Given the description of an element on the screen output the (x, y) to click on. 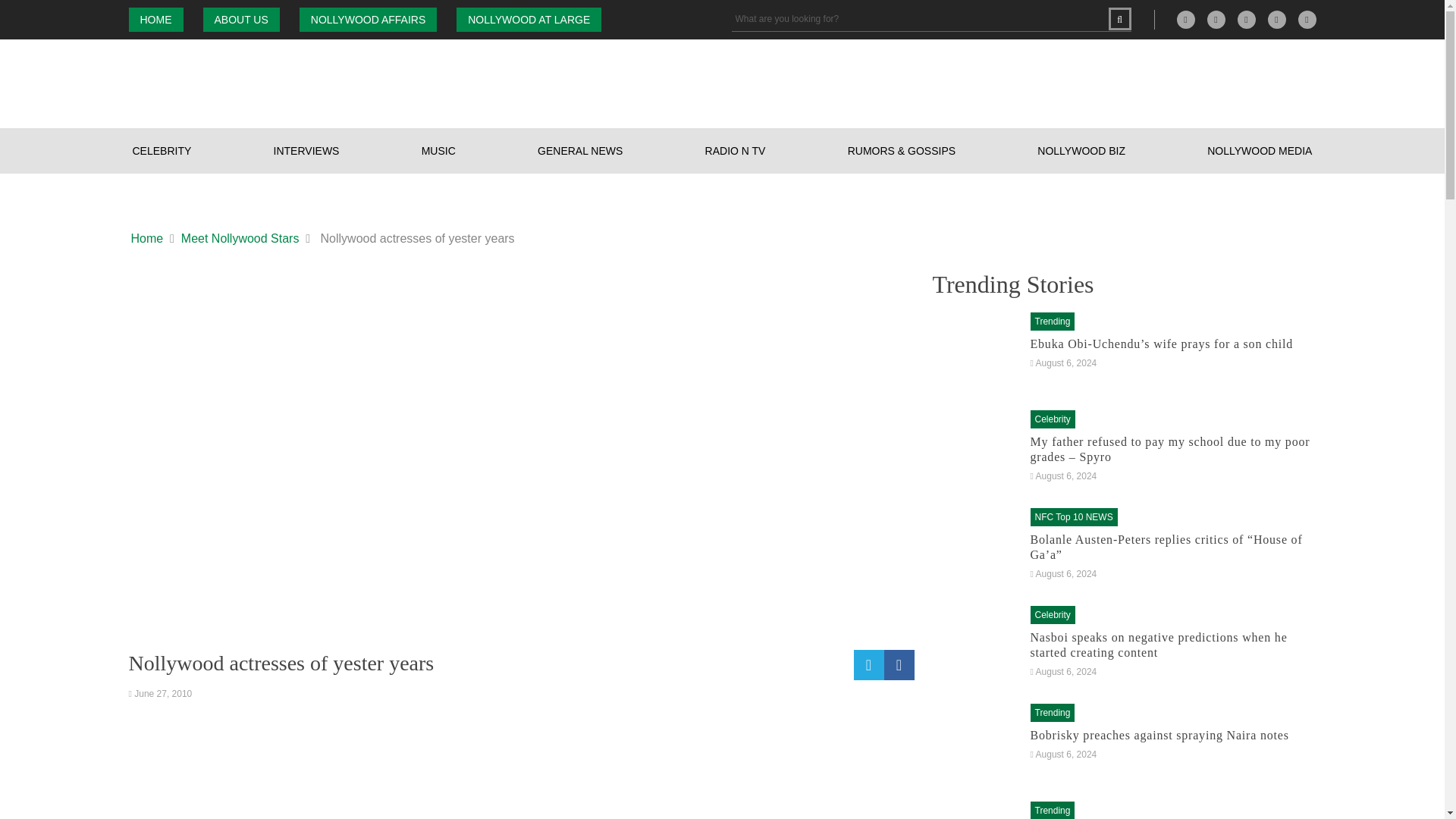
Facebook (1216, 19)
ABOUT US (241, 19)
NOLLYWOOD BIZ (1081, 150)
Youtube (1307, 19)
HOME (156, 19)
INTERVIEWS (306, 150)
Google plus (1185, 19)
instagram (1246, 19)
MUSIC (438, 150)
CELEBRITY (162, 150)
